Given the description of an element on the screen output the (x, y) to click on. 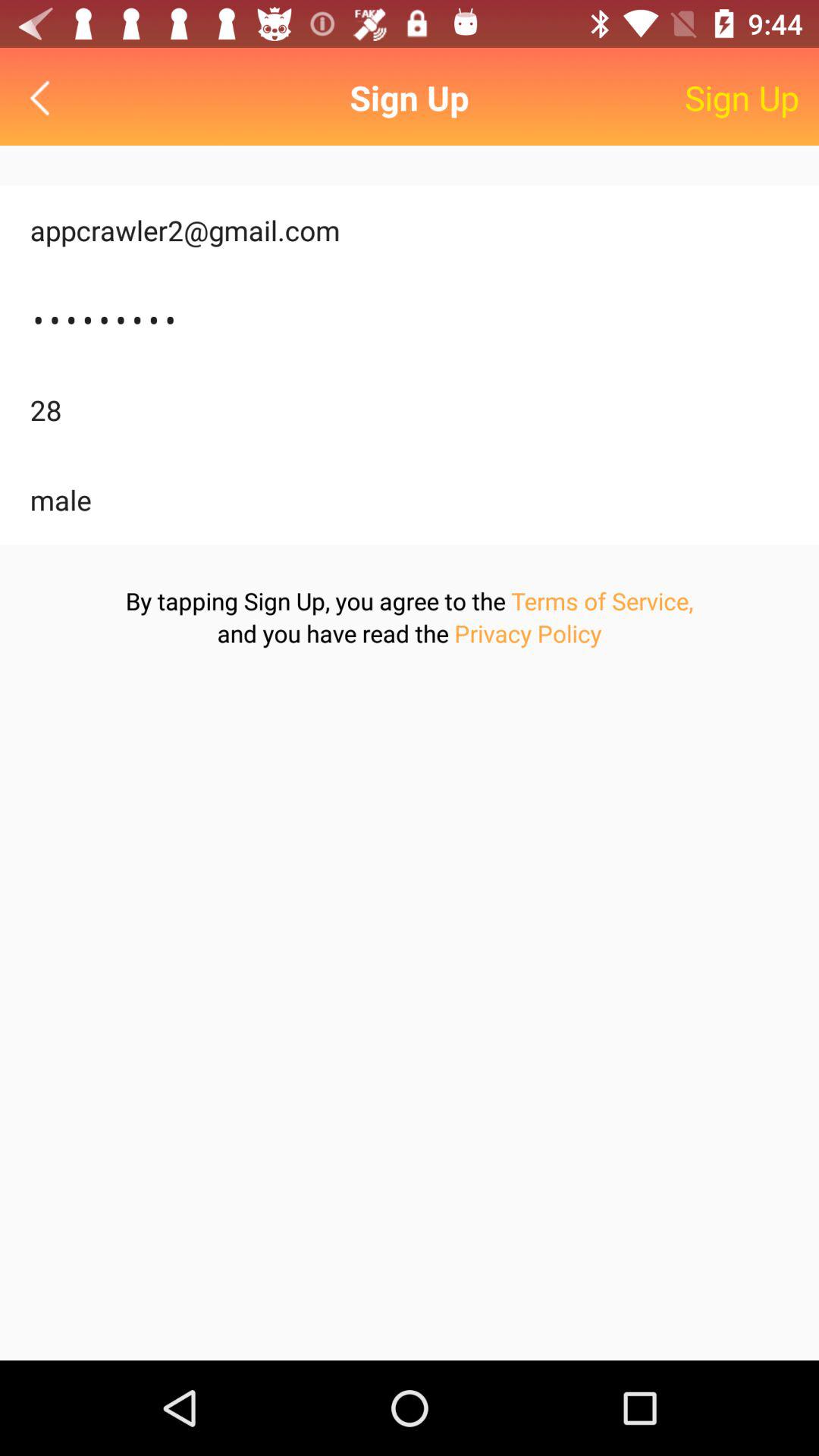
open item above male icon (409, 410)
